Given the description of an element on the screen output the (x, y) to click on. 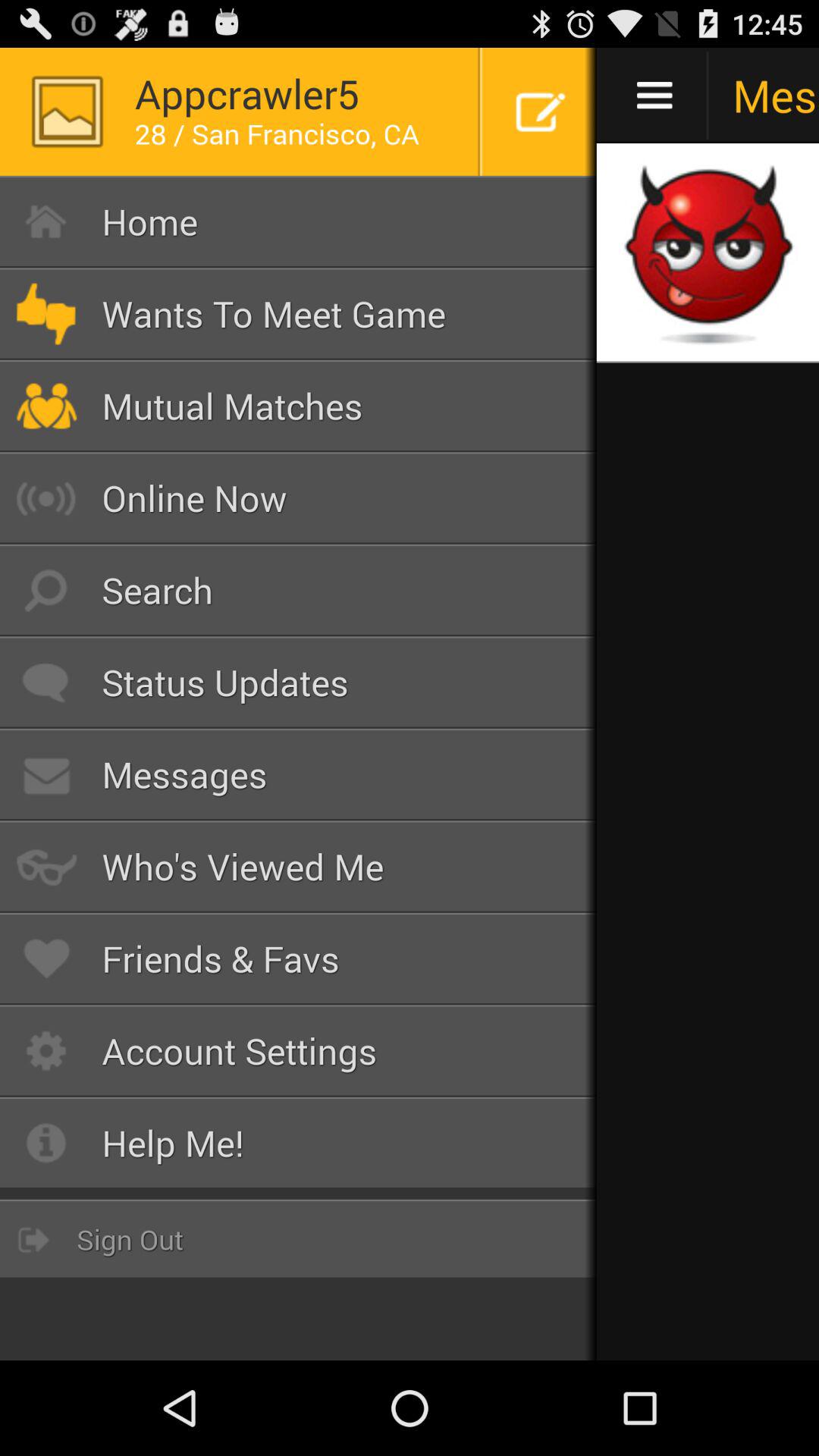
scroll to help me! (298, 1143)
